Given the description of an element on the screen output the (x, y) to click on. 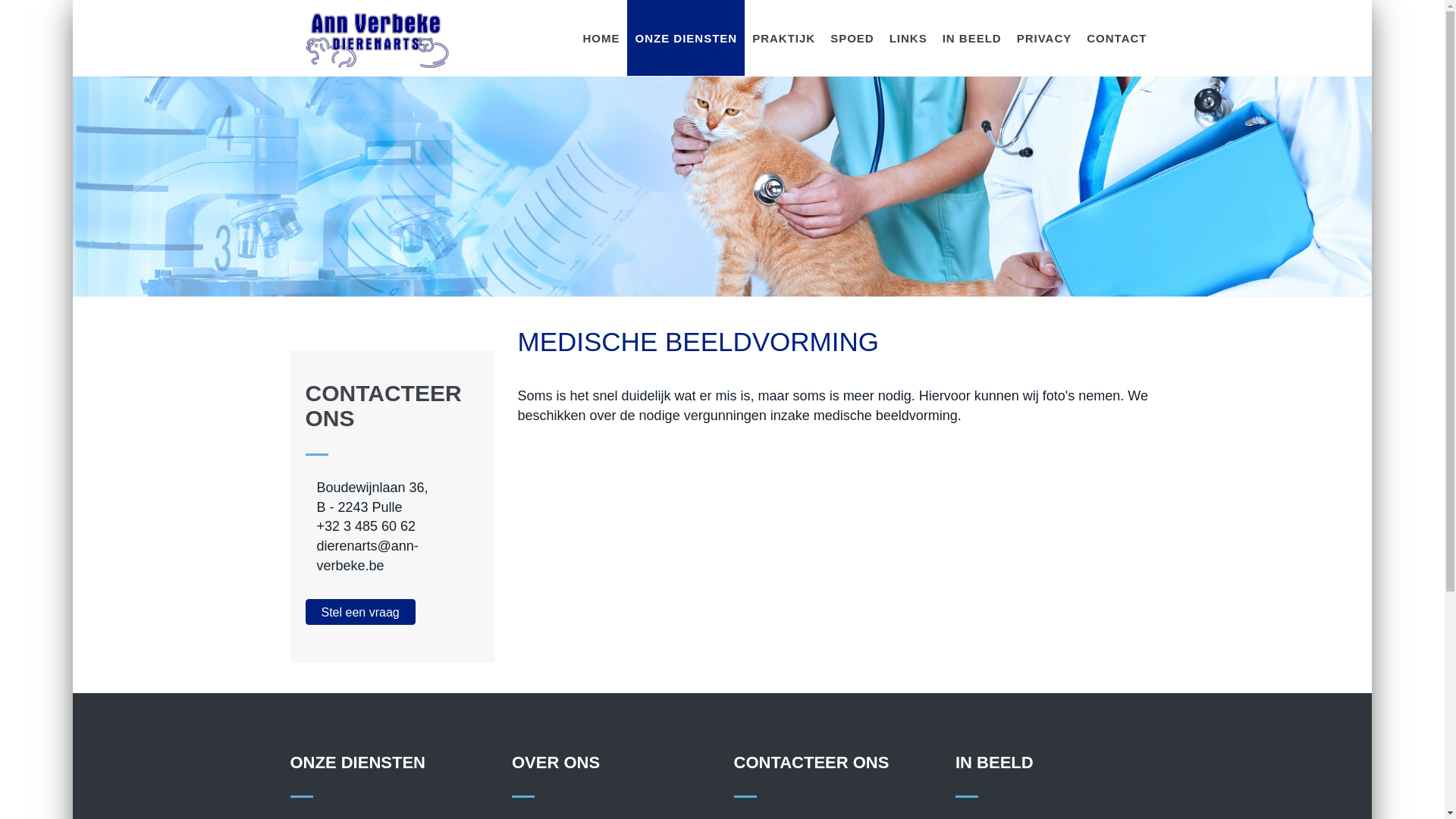
IN BEELD Element type: text (972, 37)
ONZE DIENSTEN Element type: text (685, 37)
SPOED Element type: text (851, 37)
Stel een vraag Element type: text (359, 612)
CONTACT Element type: text (1116, 37)
LINKS Element type: text (908, 37)
PRIVACY Element type: text (1044, 37)
PRAKTIJK Element type: text (783, 37)
HOME Element type: text (600, 37)
